Given the description of an element on the screen output the (x, y) to click on. 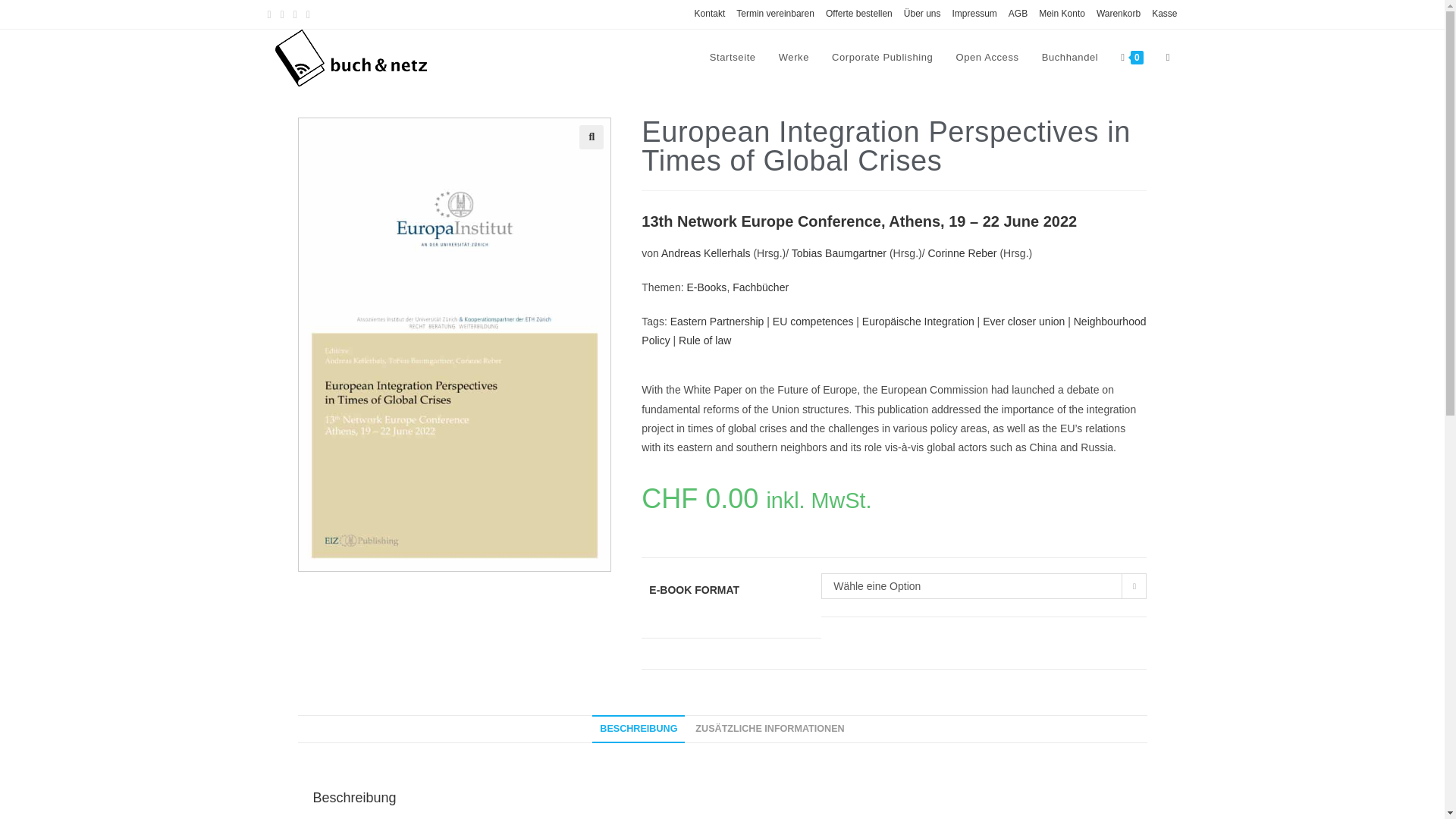
Buchhandel (1069, 57)
Startseite (732, 57)
Tobias Baumgartner (839, 253)
Werke (794, 57)
Termin vereinbaren (774, 13)
Ever closer union (1023, 321)
Andreas Kellerhals (706, 253)
E-Books (705, 287)
Rule of law (704, 340)
AGB (1018, 13)
Kasse (1163, 13)
Neighbourhood Policy (893, 330)
Open Access (986, 57)
Eastern Partnership (716, 321)
Mein Konto (1061, 13)
